Given the description of an element on the screen output the (x, y) to click on. 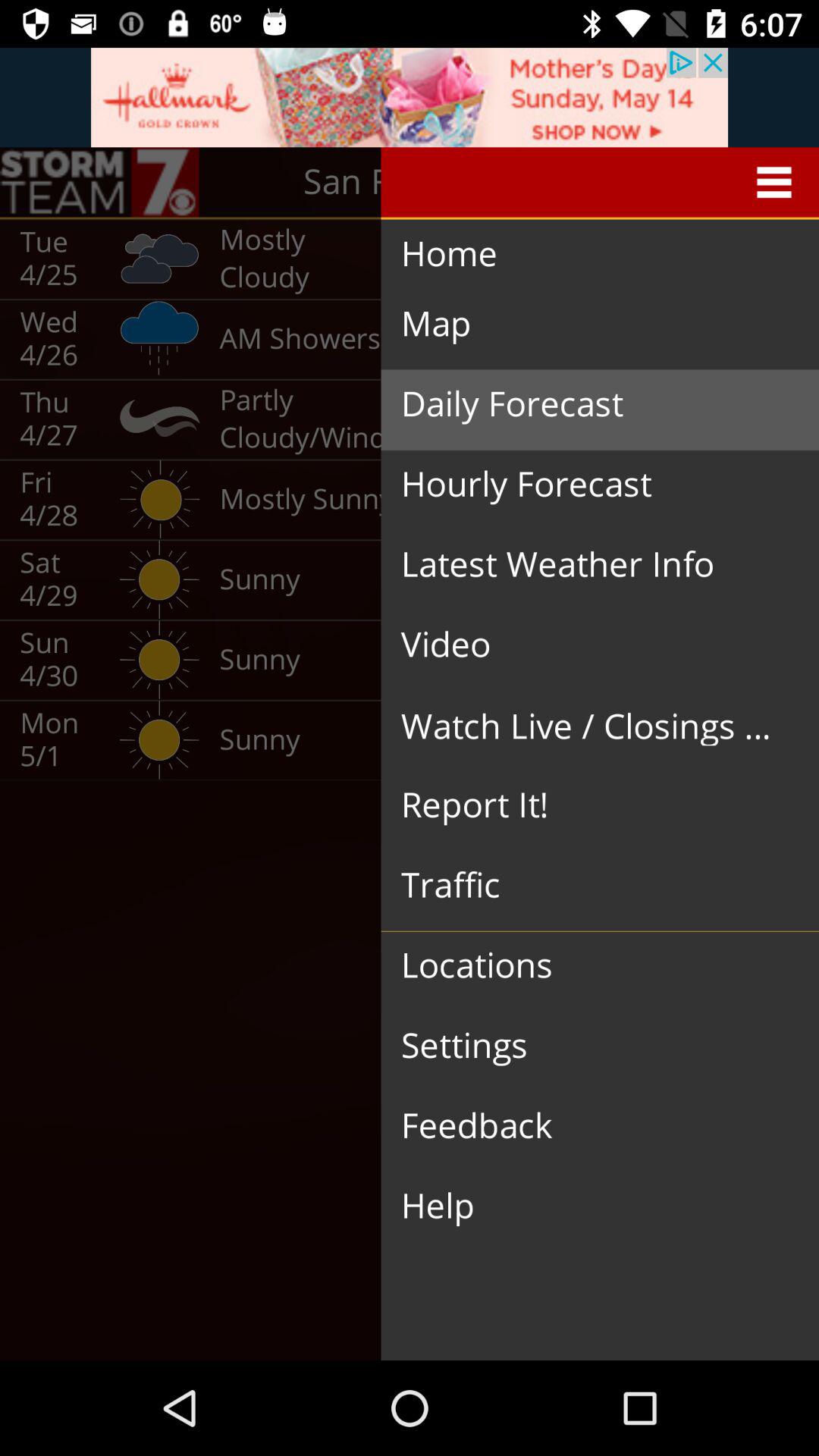
swipe to the locations icon (587, 965)
